Given the description of an element on the screen output the (x, y) to click on. 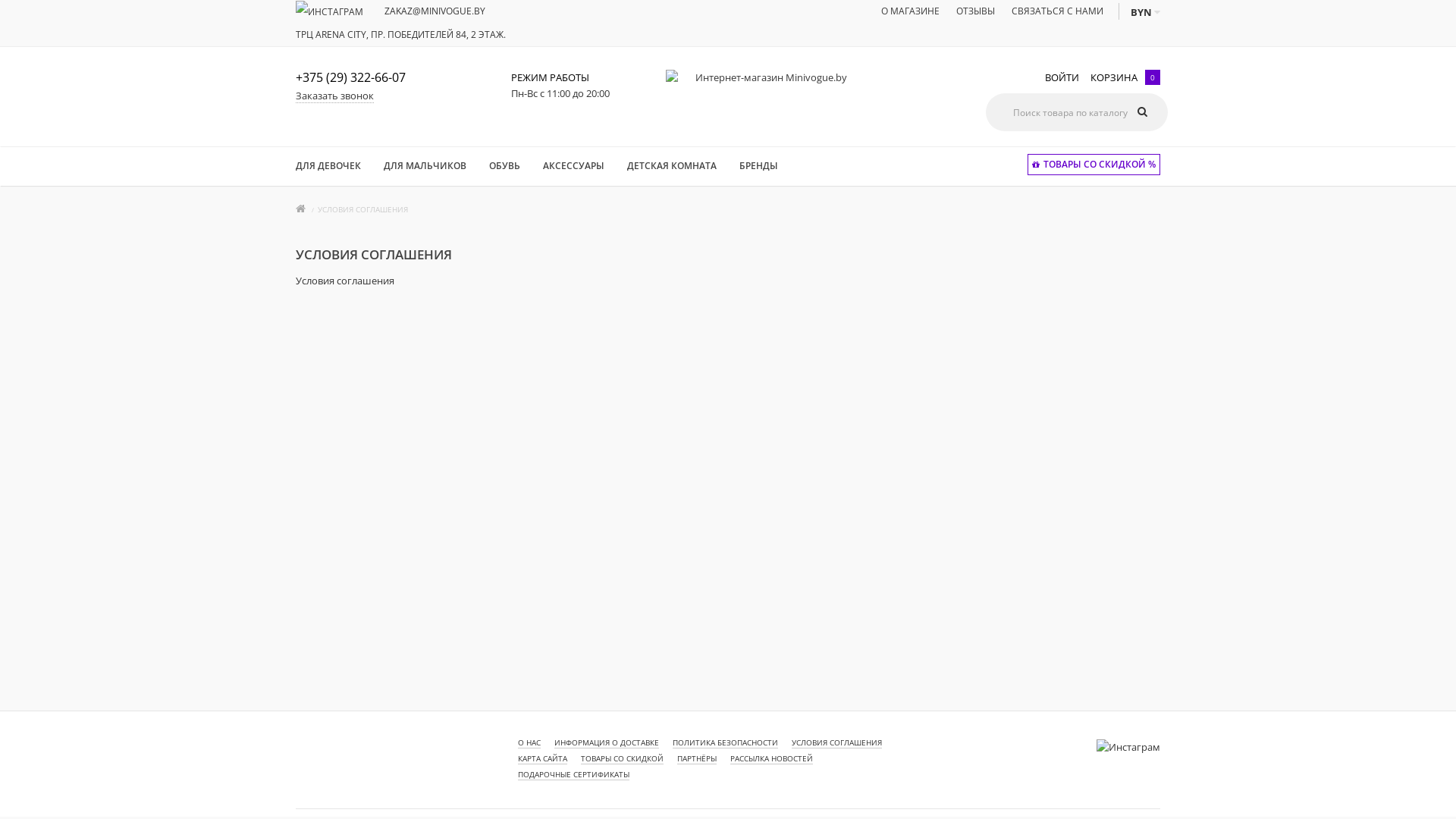
0 Element type: text (1148, 76)
BYN Element type: text (1145, 11)
